Given the description of an element on the screen output the (x, y) to click on. 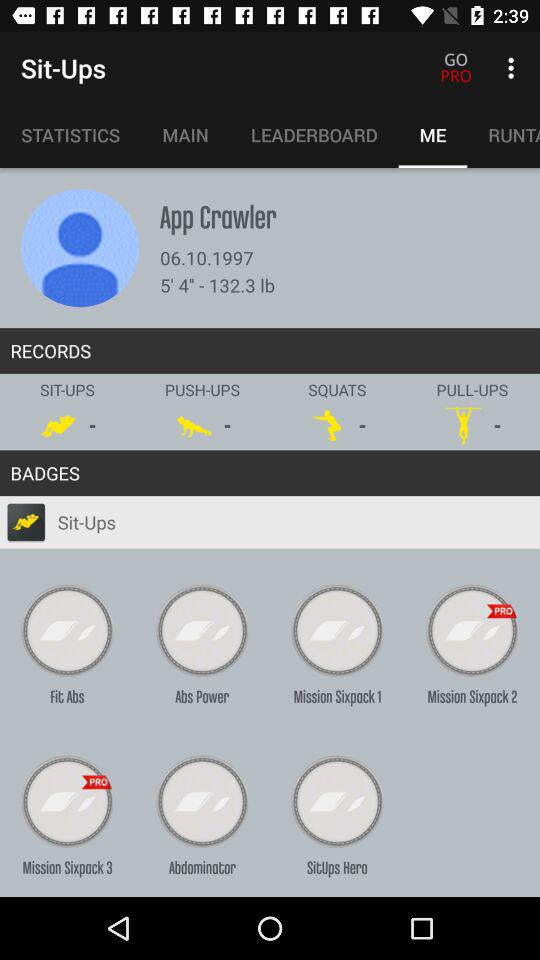
profile picture (80, 248)
